Given the description of an element on the screen output the (x, y) to click on. 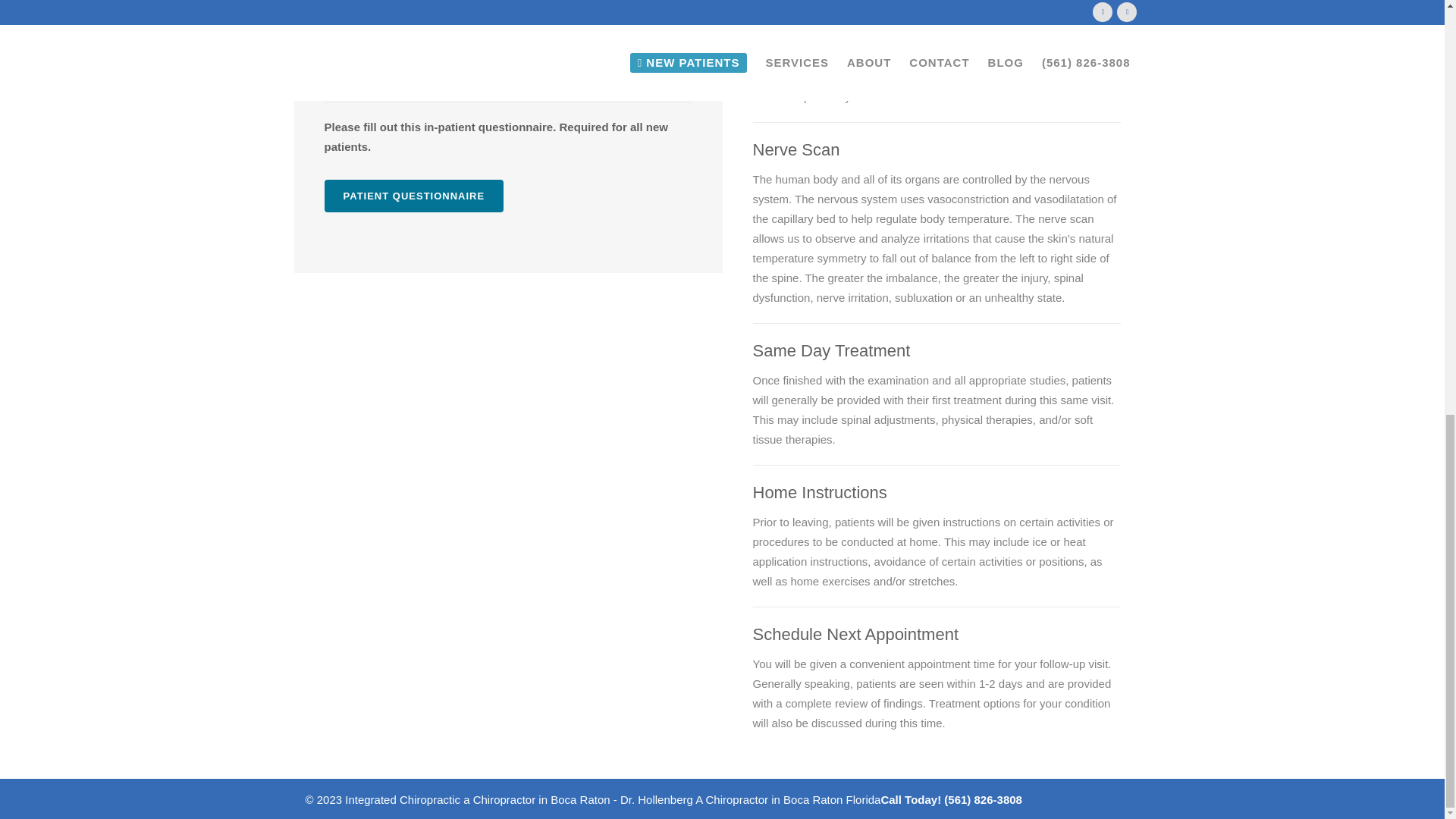
Submit (365, 63)
